Given the description of an element on the screen output the (x, y) to click on. 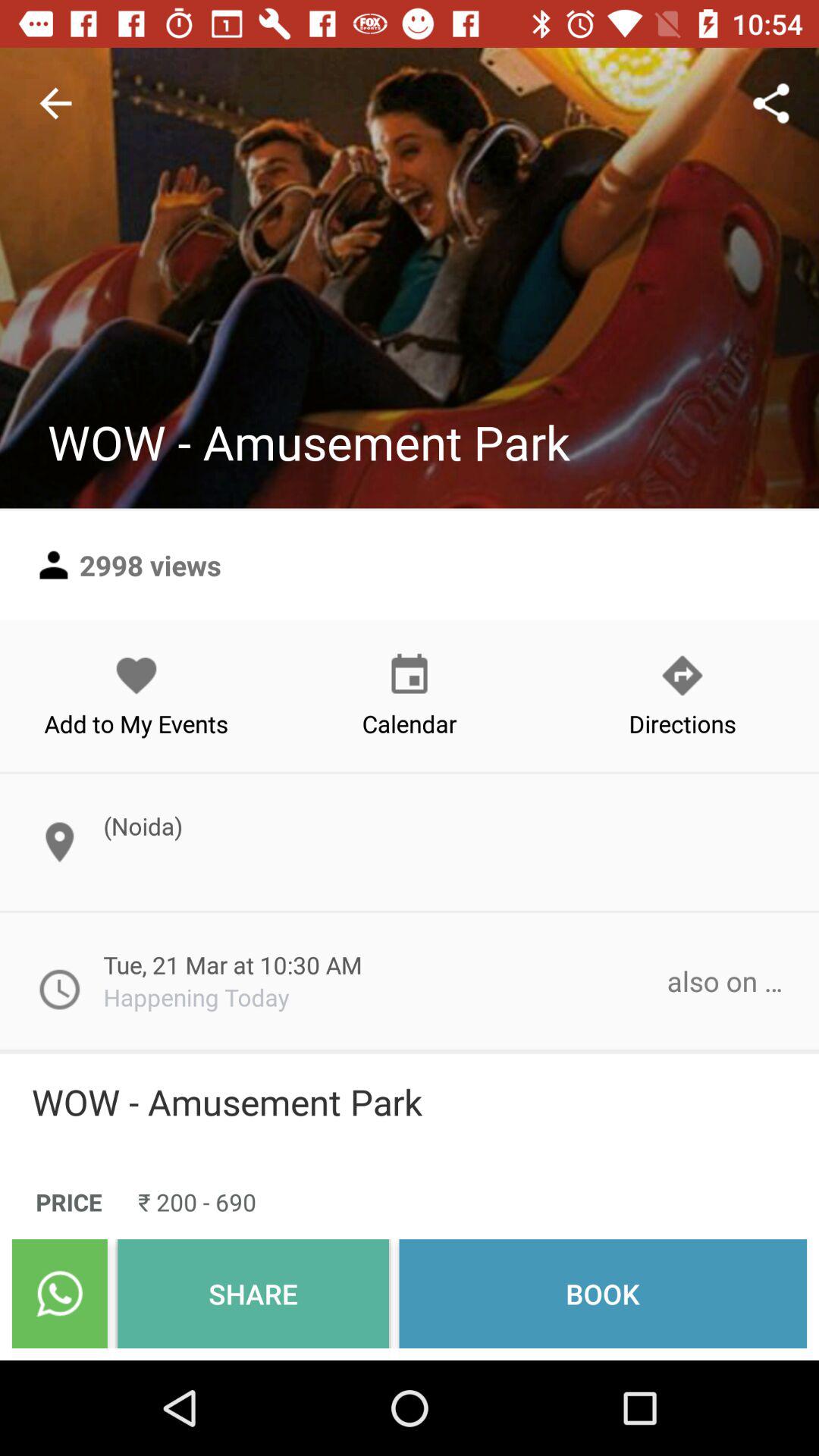
choose the item above price icon (409, 1101)
